Given the description of an element on the screen output the (x, y) to click on. 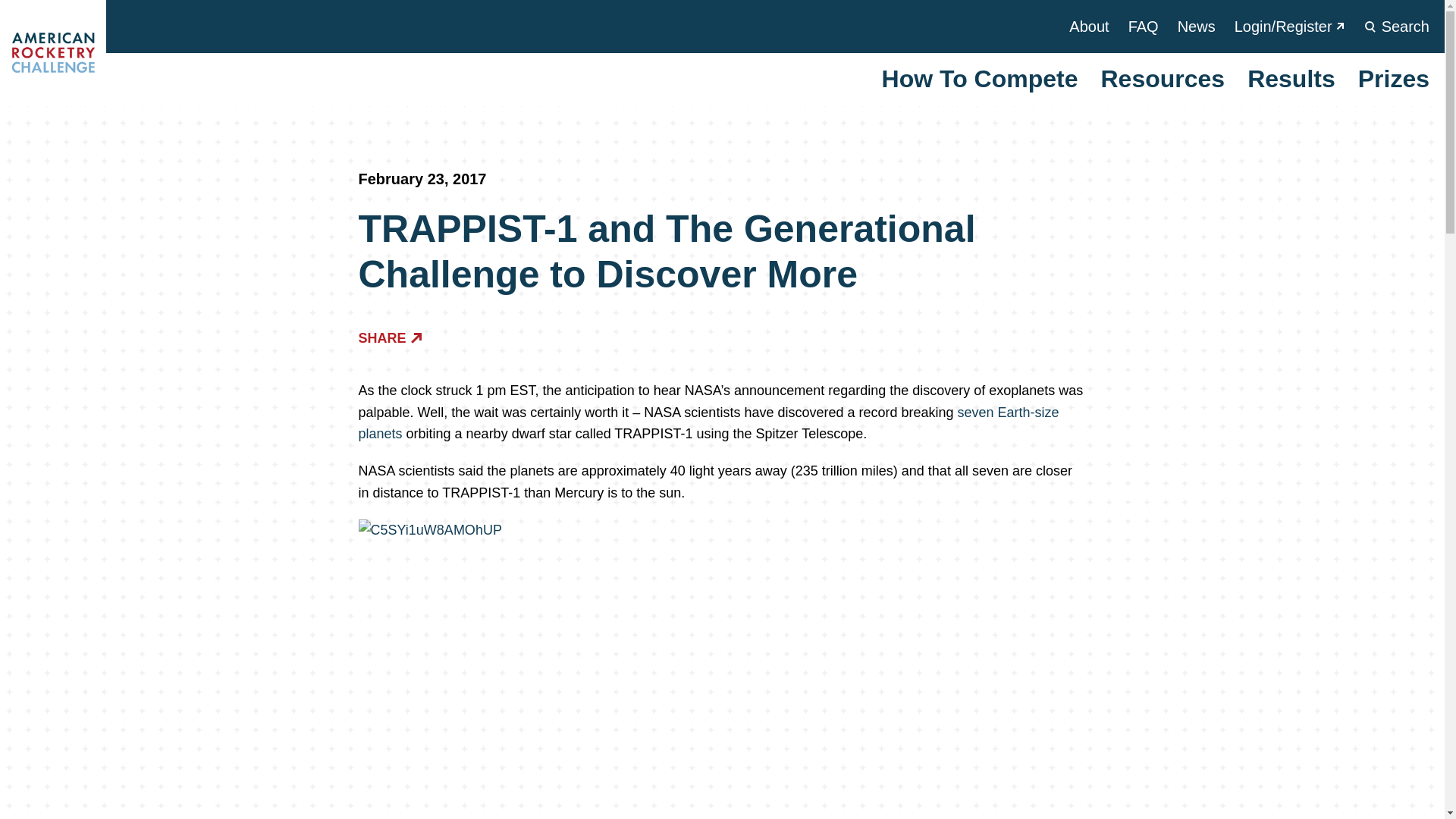
Resources (1162, 78)
Results (1291, 78)
FAQ (1143, 26)
Prizes (1393, 78)
seven Earth-size planets (708, 423)
About (1088, 26)
How To Compete (980, 78)
News (1196, 26)
